Given the description of an element on the screen output the (x, y) to click on. 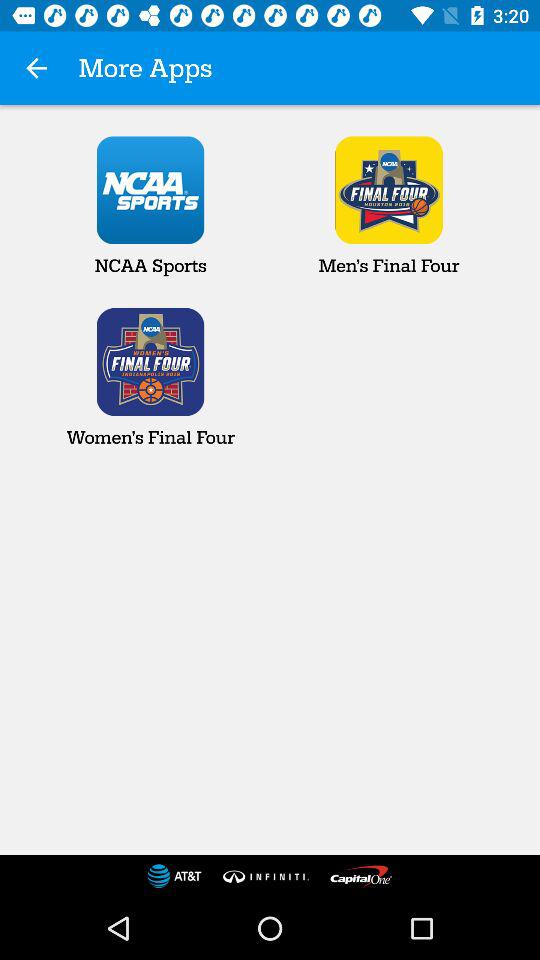
turn off the item above the women s final icon (150, 206)
